Given the description of an element on the screen output the (x, y) to click on. 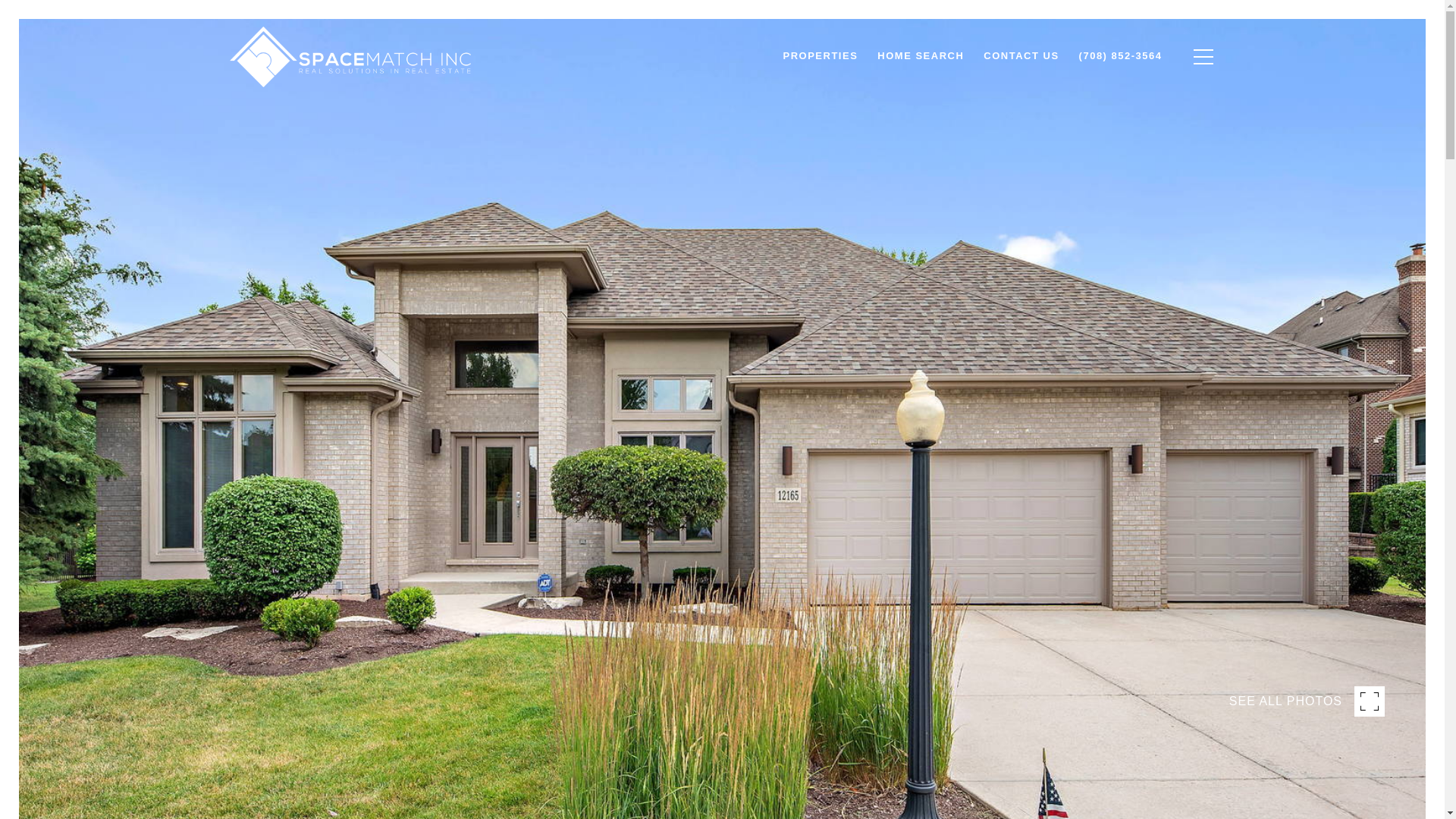
HOME SEARCH (920, 55)
CONTACT US (1021, 55)
PROPERTIES (820, 55)
